Given the description of an element on the screen output the (x, y) to click on. 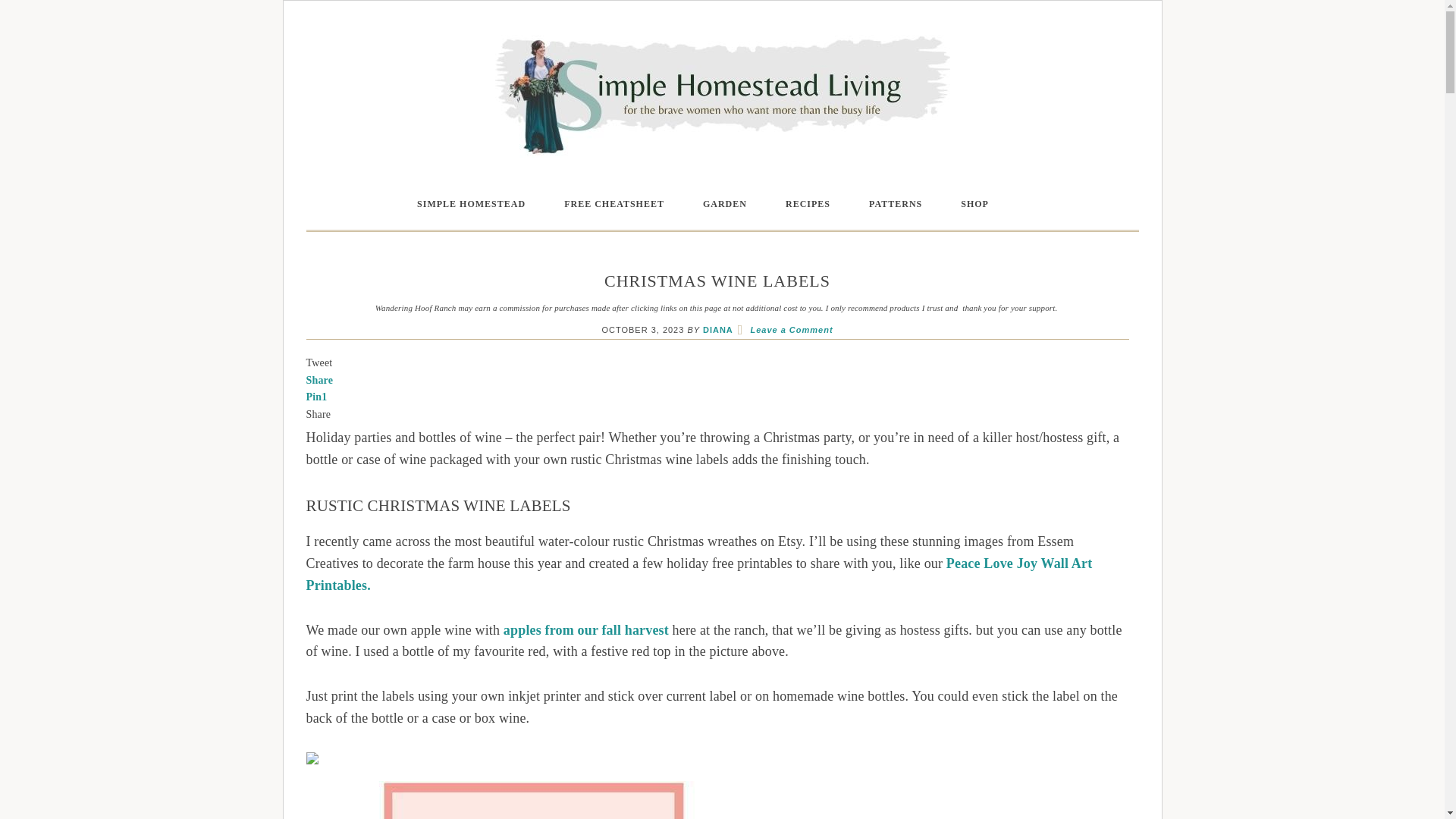
SHOP (974, 204)
GARDEN (724, 204)
SIMPLE HOMESTEAD (470, 204)
Peace Love Joy Wall Art Printables. (699, 574)
apples from our fall harvest (585, 630)
Pin1 (316, 396)
DIANA (718, 329)
PATTERNS (895, 204)
Leave a Comment (790, 329)
FREE CHEATSHEET (613, 204)
RECIPES (807, 204)
Share (319, 379)
WANDERING HOOF RANCH (722, 93)
